Given the description of an element on the screen output the (x, y) to click on. 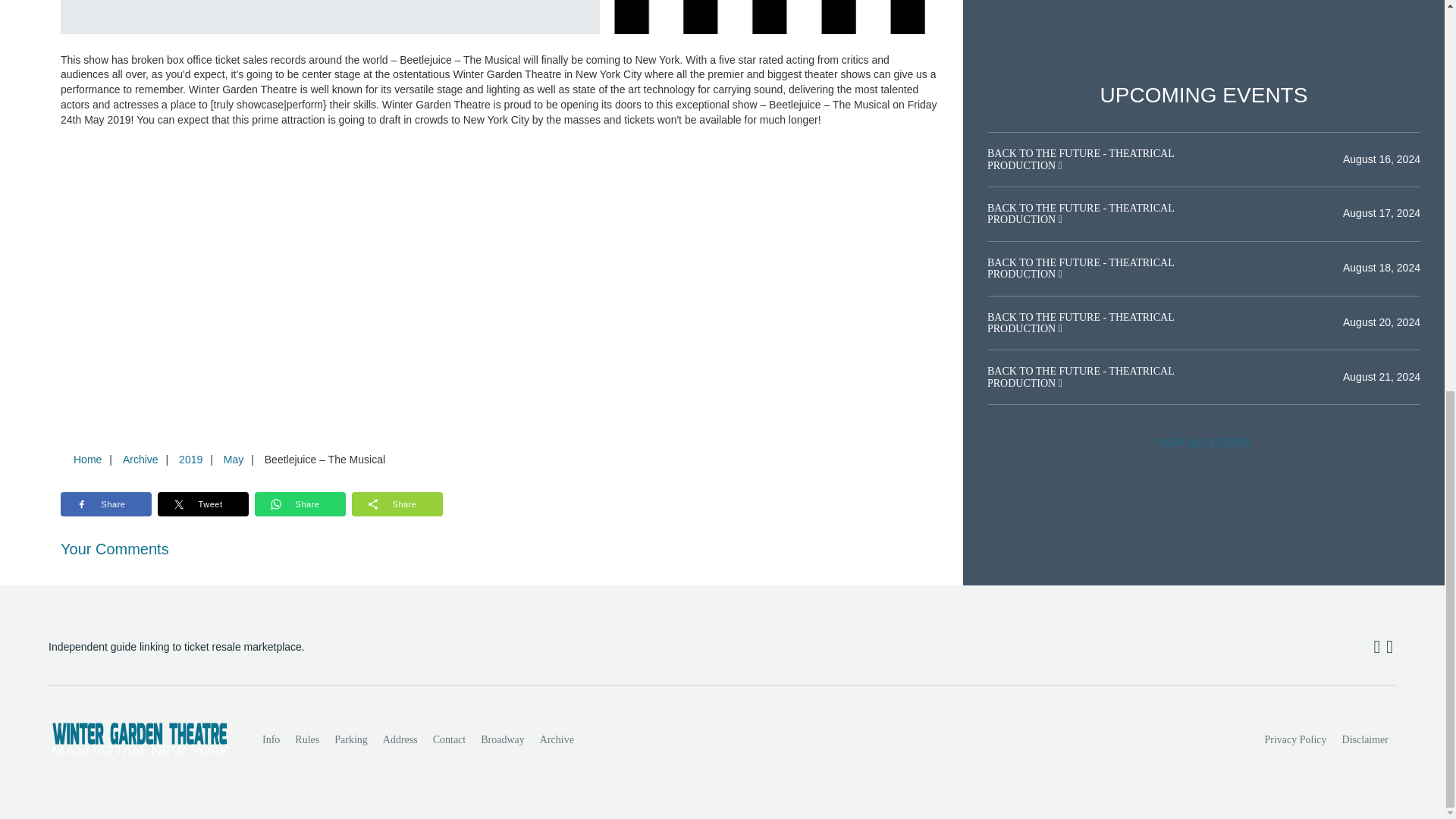
Home (87, 459)
Contact (449, 739)
Rules (306, 739)
Disclaimer (1365, 739)
Broadway (502, 739)
May (232, 459)
2019 (190, 459)
Info (270, 739)
Address (400, 739)
Archive (556, 739)
